Given the description of an element on the screen output the (x, y) to click on. 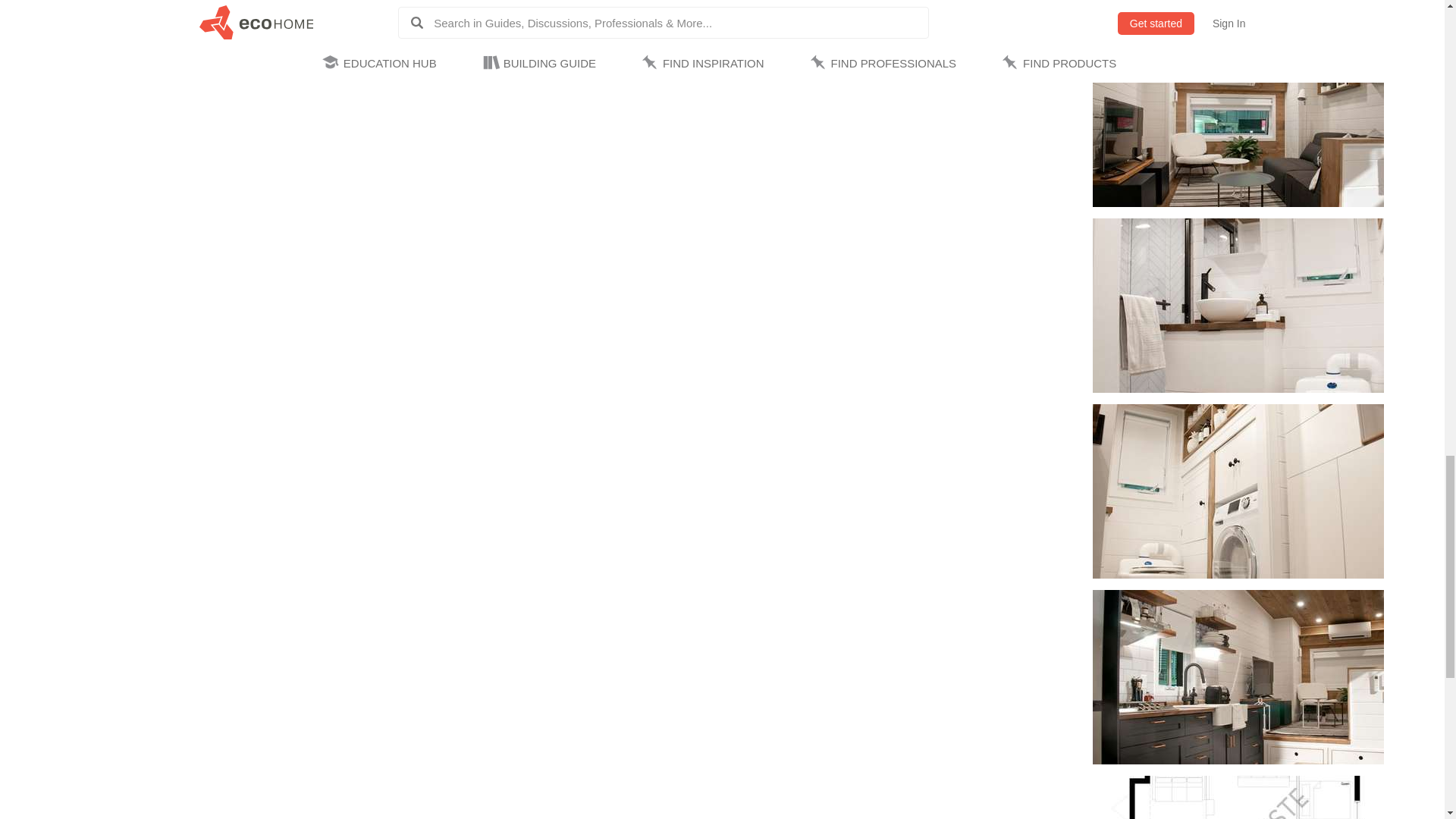
Search THOW (885, 24)
Search Tiny Home (1026, 2)
Search Thows (1011, 24)
Search Minimaliste (947, 24)
Search Tiny House (822, 24)
